Given the description of an element on the screen output the (x, y) to click on. 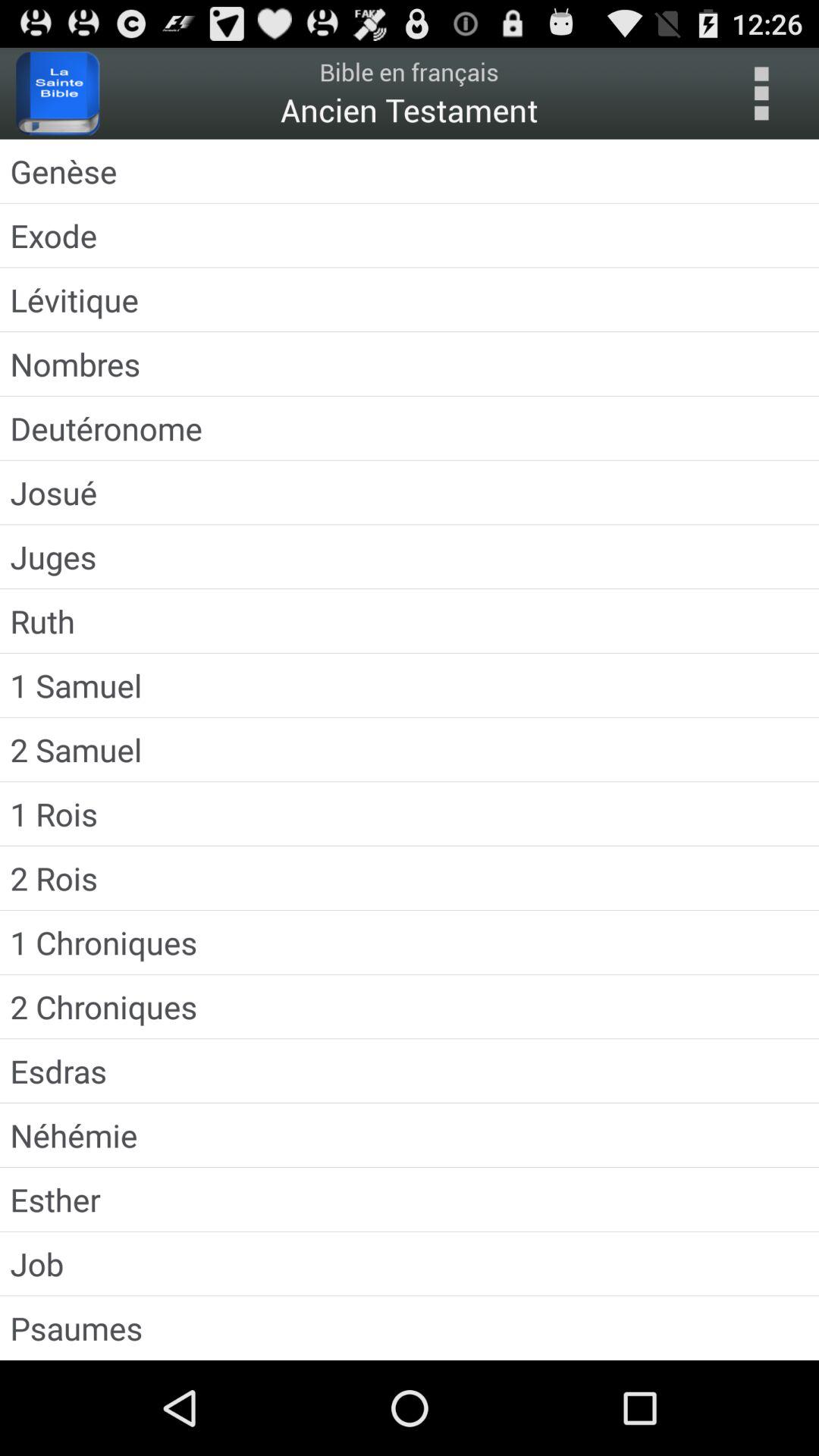
open menu options (761, 93)
